Given the description of an element on the screen output the (x, y) to click on. 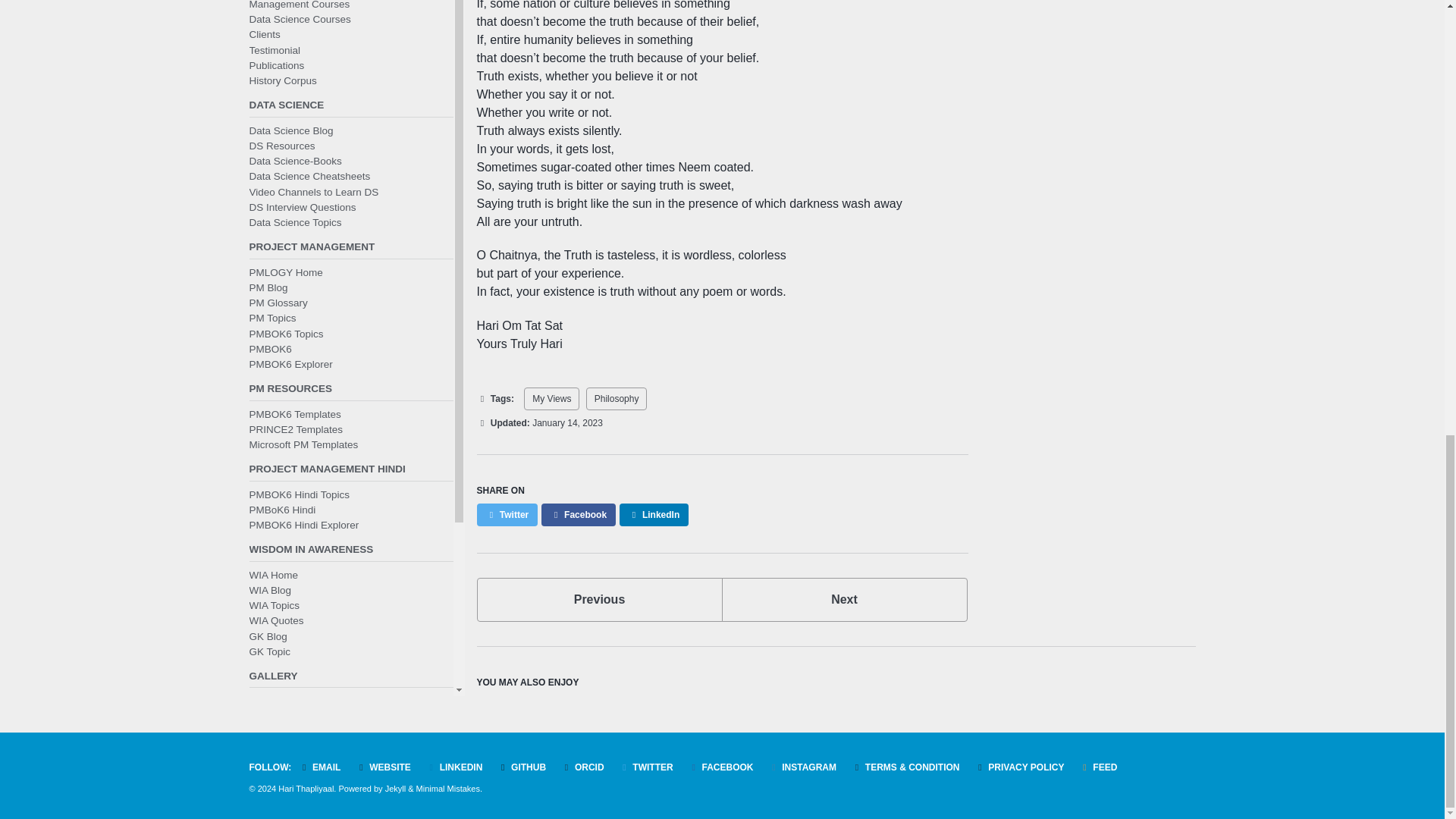
Share on Twitter (599, 599)
Share on LinkedIn (845, 599)
Share on Facebook (506, 514)
